Given the description of an element on the screen output the (x, y) to click on. 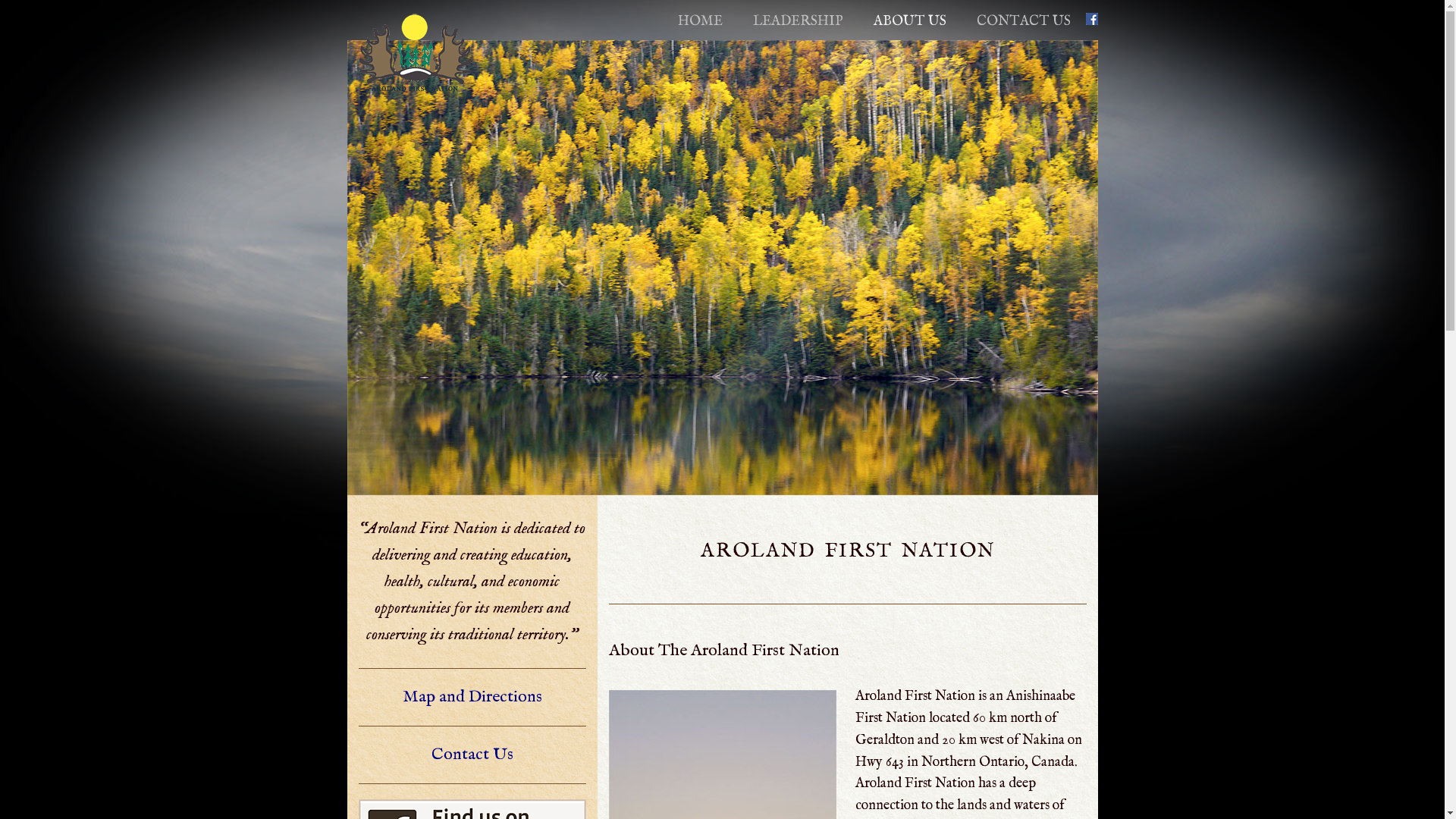
LEADERSHIP Element type: text (797, 21)
CONTACT US Element type: text (1023, 21)
Map and Directions Element type: text (471, 696)
Contact Us Element type: text (471, 754)
HOME Element type: text (699, 21)
